Given the description of an element on the screen output the (x, y) to click on. 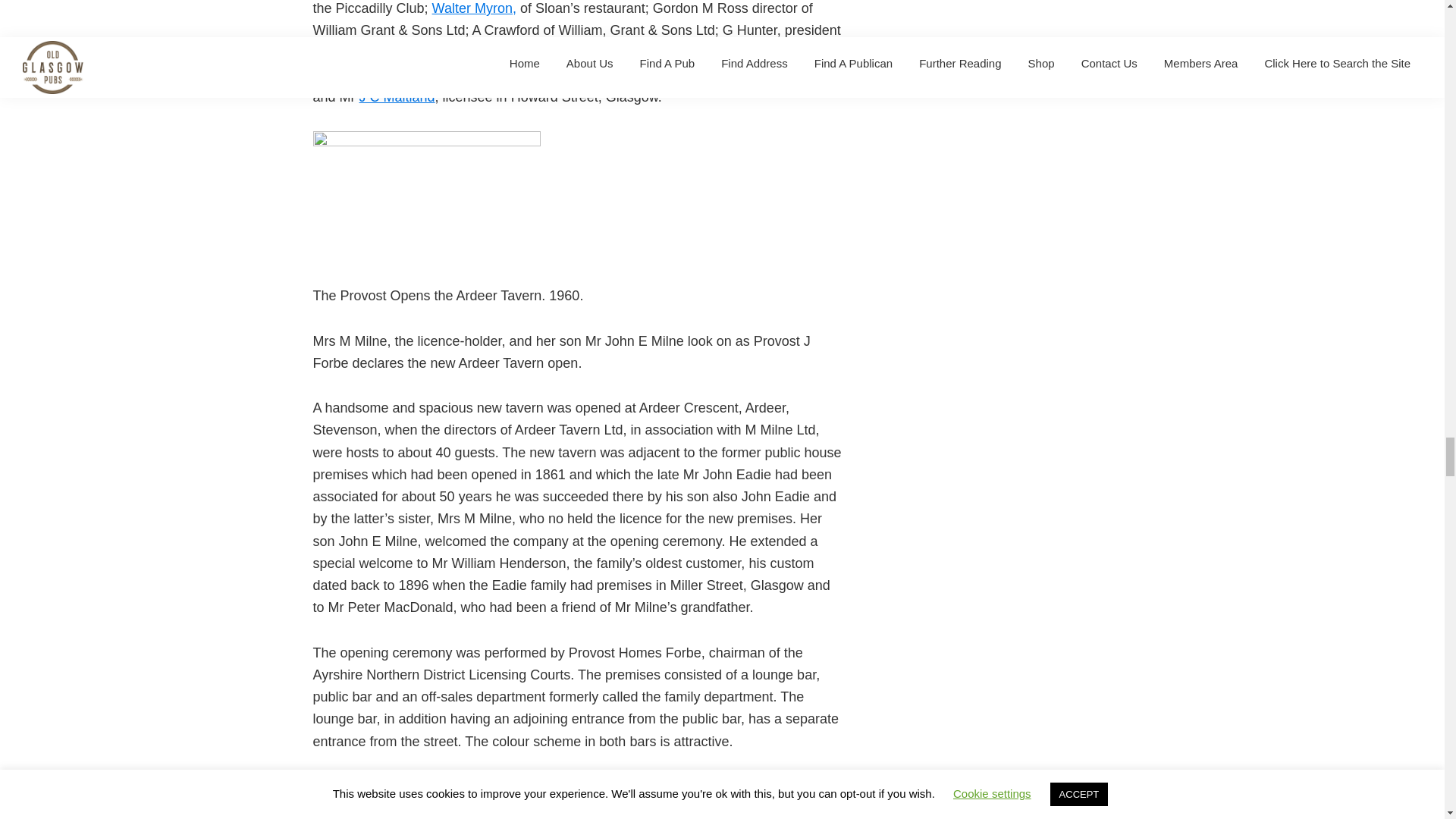
Walter Myron, (474, 7)
A K Hardie (499, 52)
J C Maitland (397, 96)
